Given the description of an element on the screen output the (x, y) to click on. 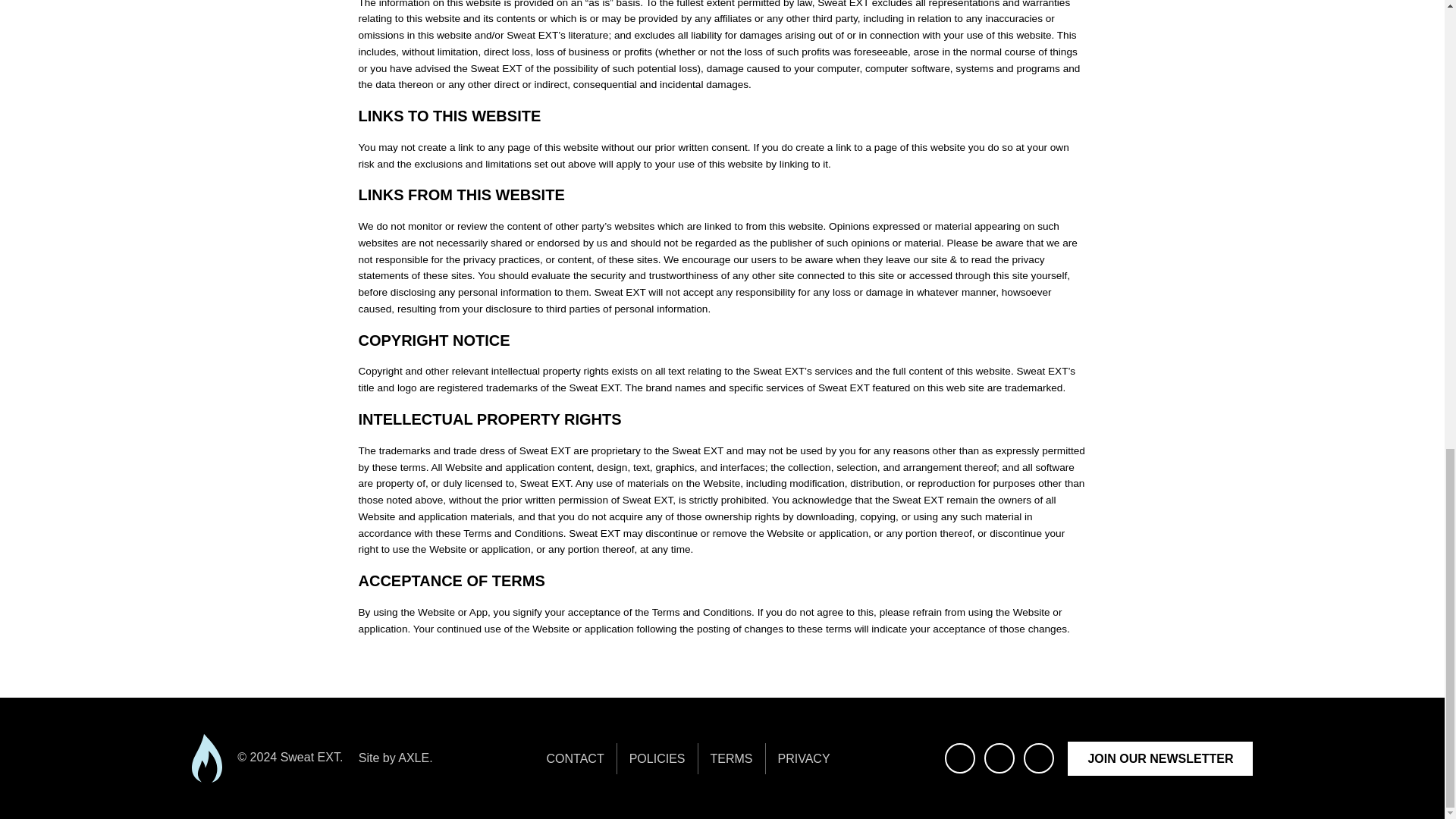
JOIN OUR NEWSLETTER (1159, 759)
CONTACT (574, 758)
POLICIES (657, 758)
PRIVACY (804, 758)
Site by AXLE. (395, 757)
TERMS (730, 758)
